Given the description of an element on the screen output the (x, y) to click on. 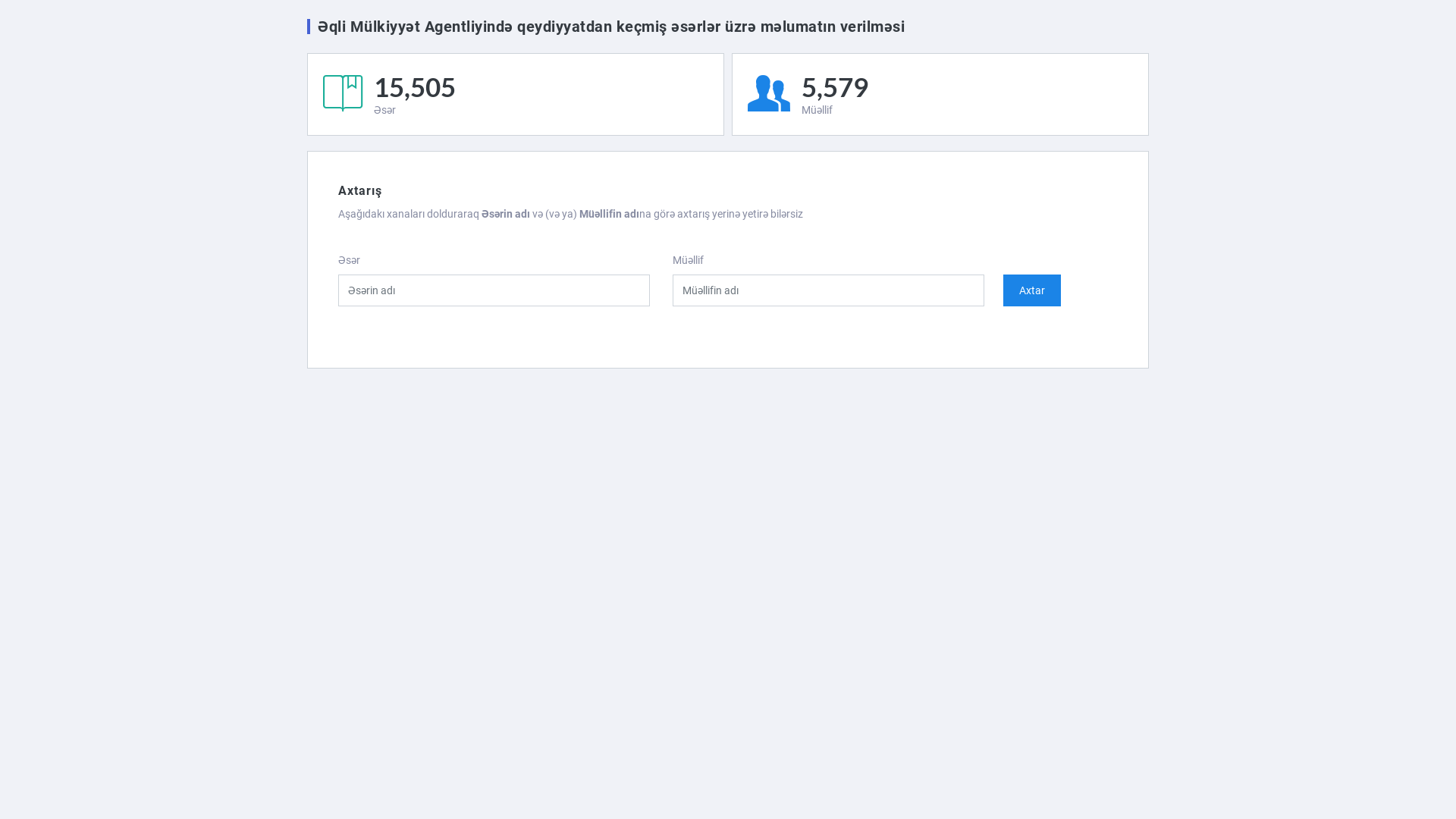
Axtar Element type: text (1031, 290)
